Given the description of an element on the screen output the (x, y) to click on. 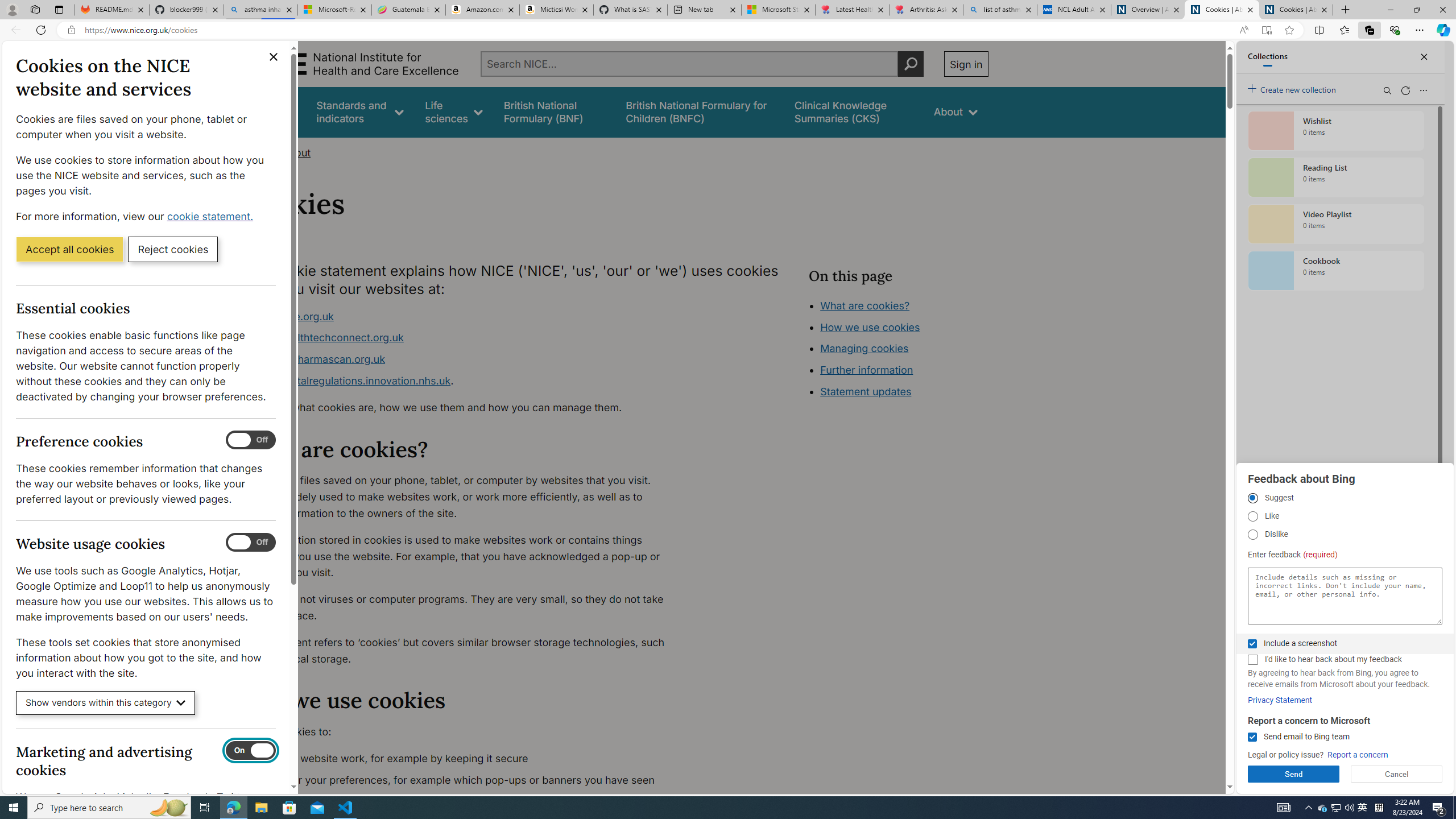
Class: in-page-nav__list (898, 349)
Show vendors within this category (105, 703)
www.digitalregulations.innovation.nhs.uk. (464, 380)
Preference cookies (250, 439)
Reject cookies (173, 248)
www.healthtechconnect.org.uk (464, 338)
Statement updates (865, 391)
